Given the description of an element on the screen output the (x, y) to click on. 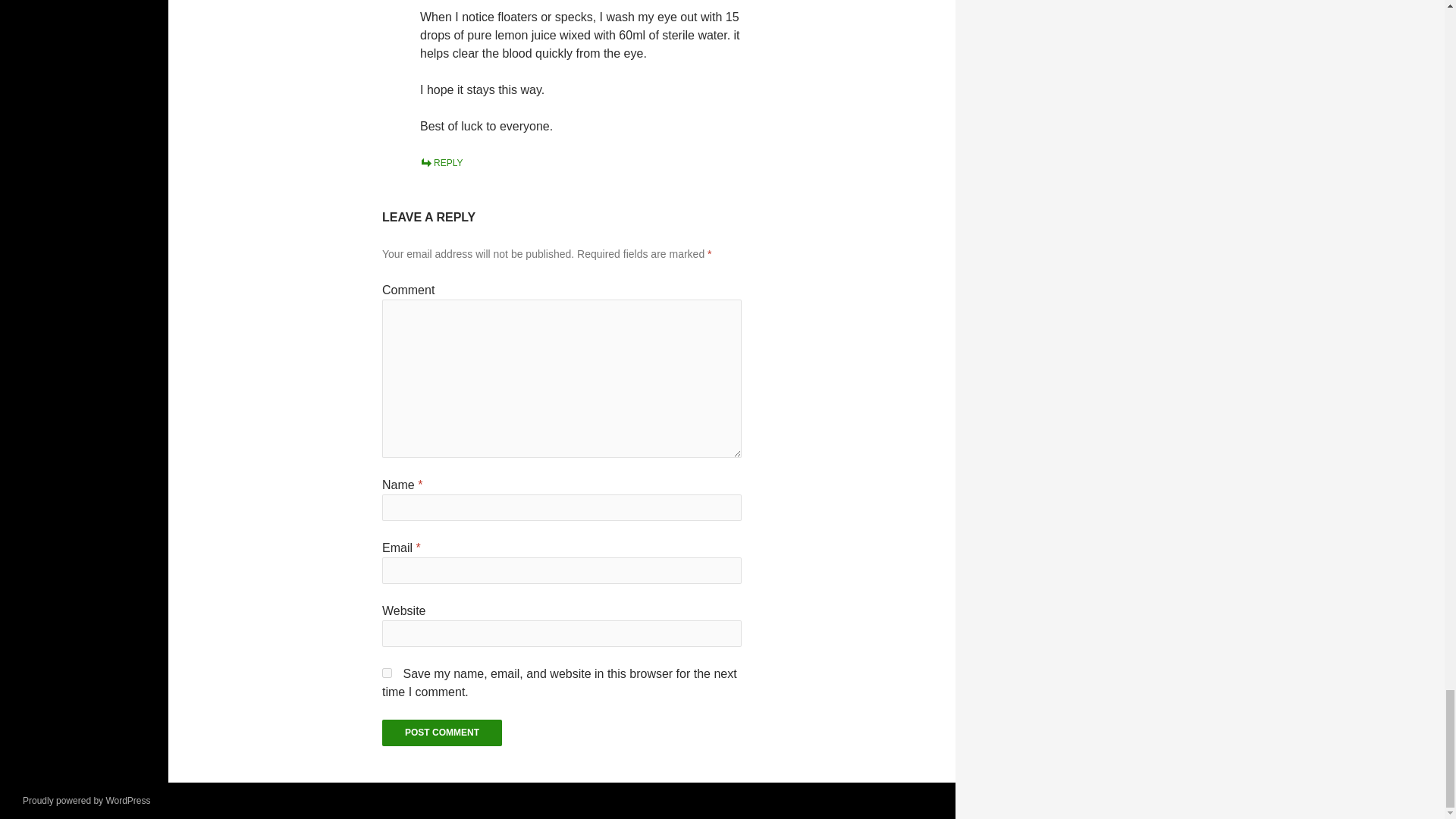
yes (386, 673)
Post Comment (441, 732)
